Given the description of an element on the screen output the (x, y) to click on. 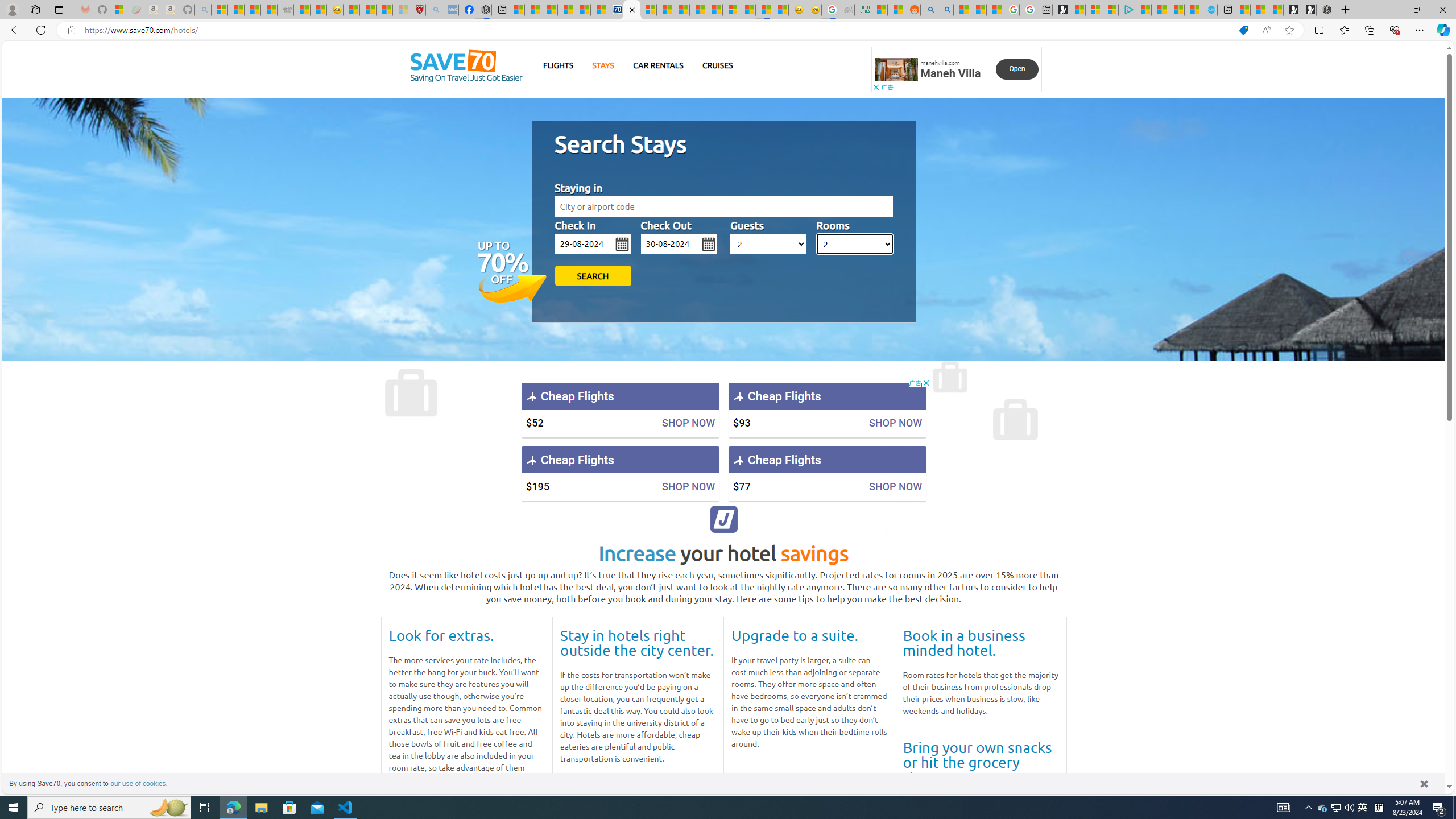
FLIGHTS (558, 65)
Maneh Villa (950, 73)
14 Common Myths Debunked By Scientific Facts (697, 9)
